Given the description of an element on the screen output the (x, y) to click on. 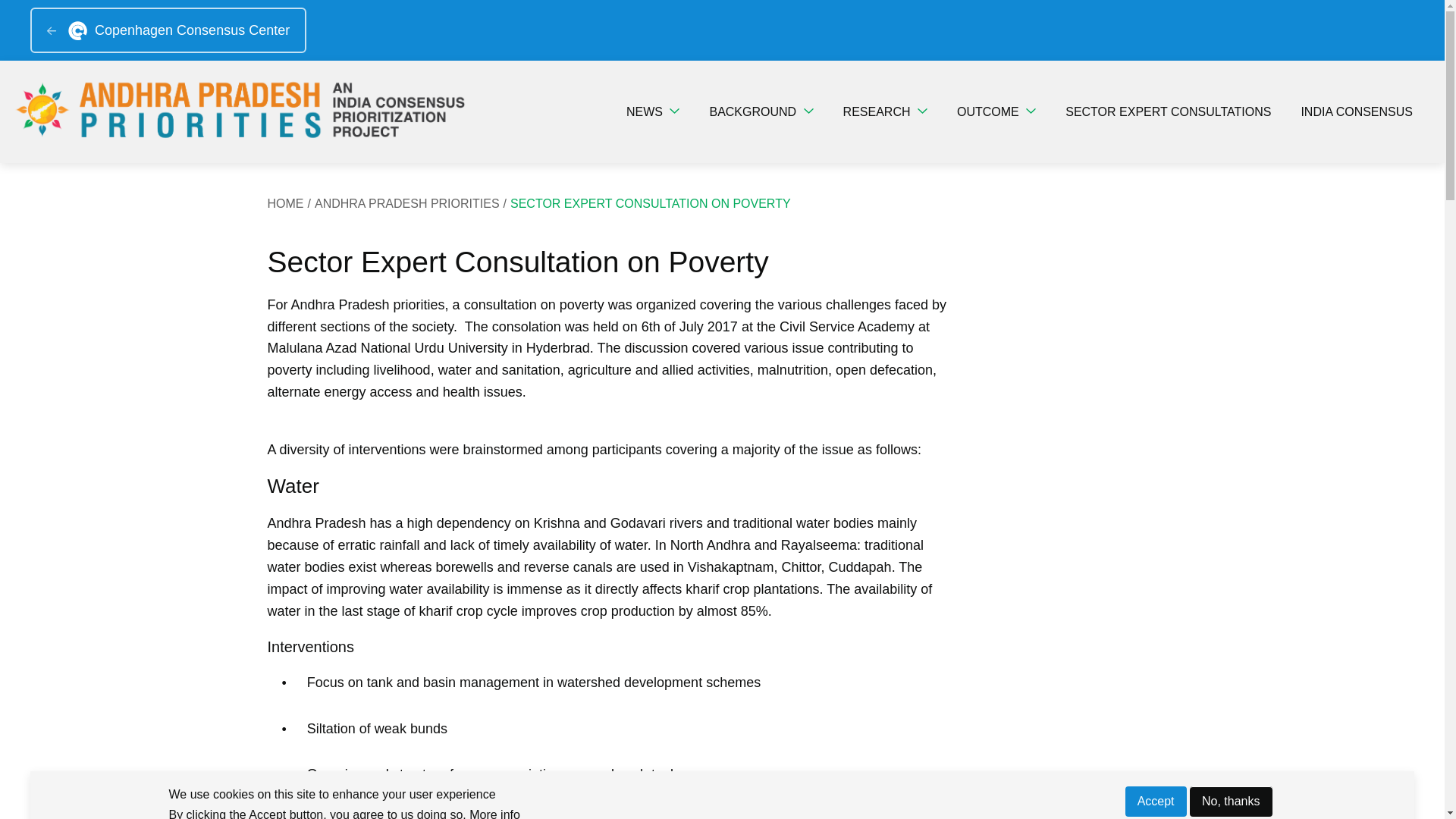
Copenhagen Consensus Center (167, 29)
No, thanks (1230, 801)
More info (493, 814)
OUTCOME 6917ABB0-710A-4B2B-8172-AEAAF451985C (996, 112)
NEWS 6917ABB0-710A-4B2B-8172-AEAAF451985C (652, 112)
6917ABB0-710A-4B2B-8172-AEAAF451985C (1030, 111)
SECTOR EXPERT CONSULTATIONS (1168, 112)
6917ABB0-710A-4B2B-8172-AEAAF451985C (674, 111)
6917ABB0-710A-4B2B-8172-AEAAF451985C (922, 111)
ANDHRA PRADESH PRIORITIES (412, 203)
6917ABB0-710A-4B2B-8172-AEAAF451985C (808, 111)
Accept (1155, 801)
HOME (290, 203)
RESEARCH 6917ABB0-710A-4B2B-8172-AEAAF451985C (885, 112)
INDIA CONSENSUS (1356, 112)
